Given the description of an element on the screen output the (x, y) to click on. 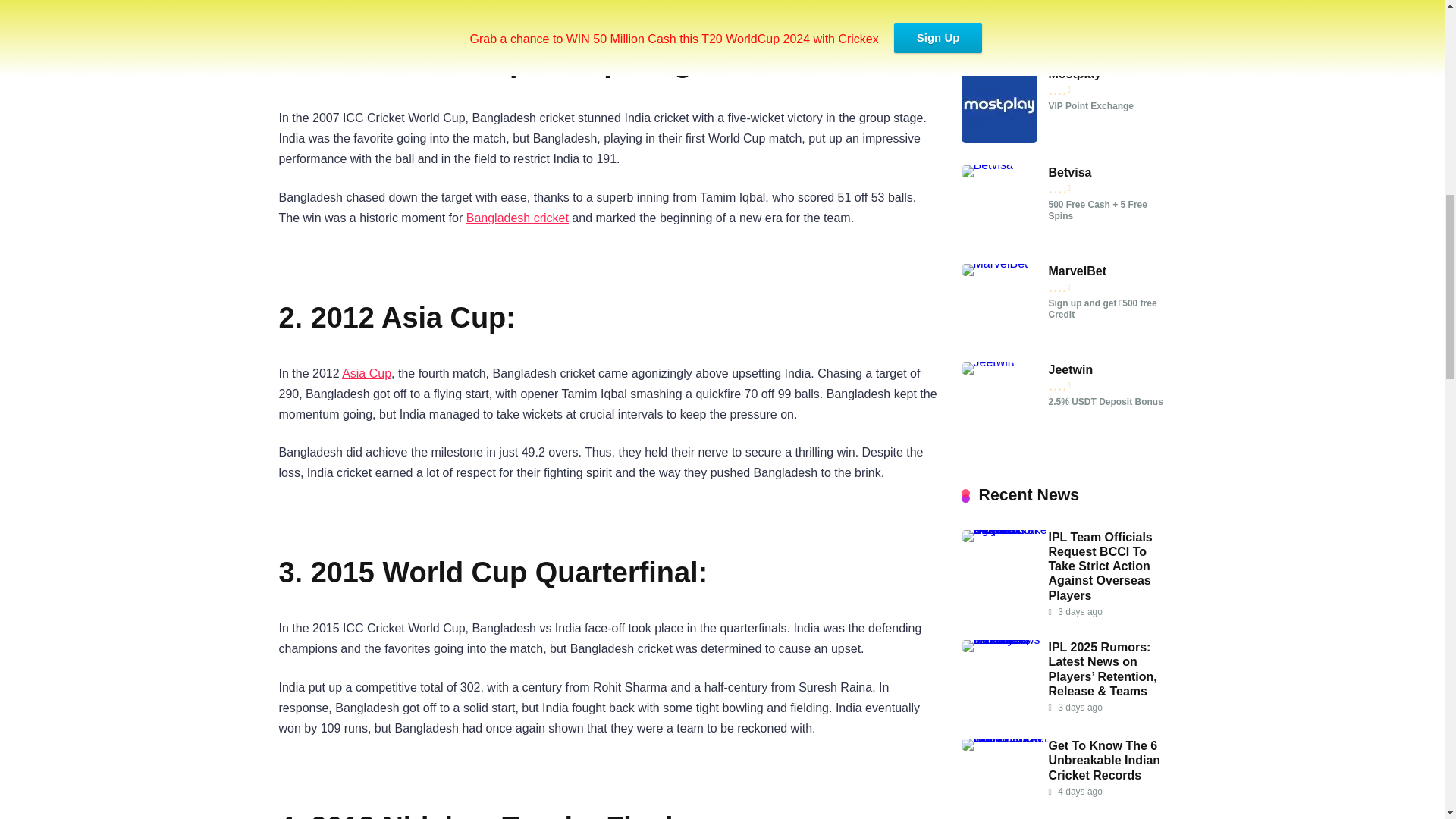
Mostplay (998, 137)
Bangladesh cricket (517, 217)
Asia Cup (366, 373)
Crickex (998, 39)
